Given the description of an element on the screen output the (x, y) to click on. 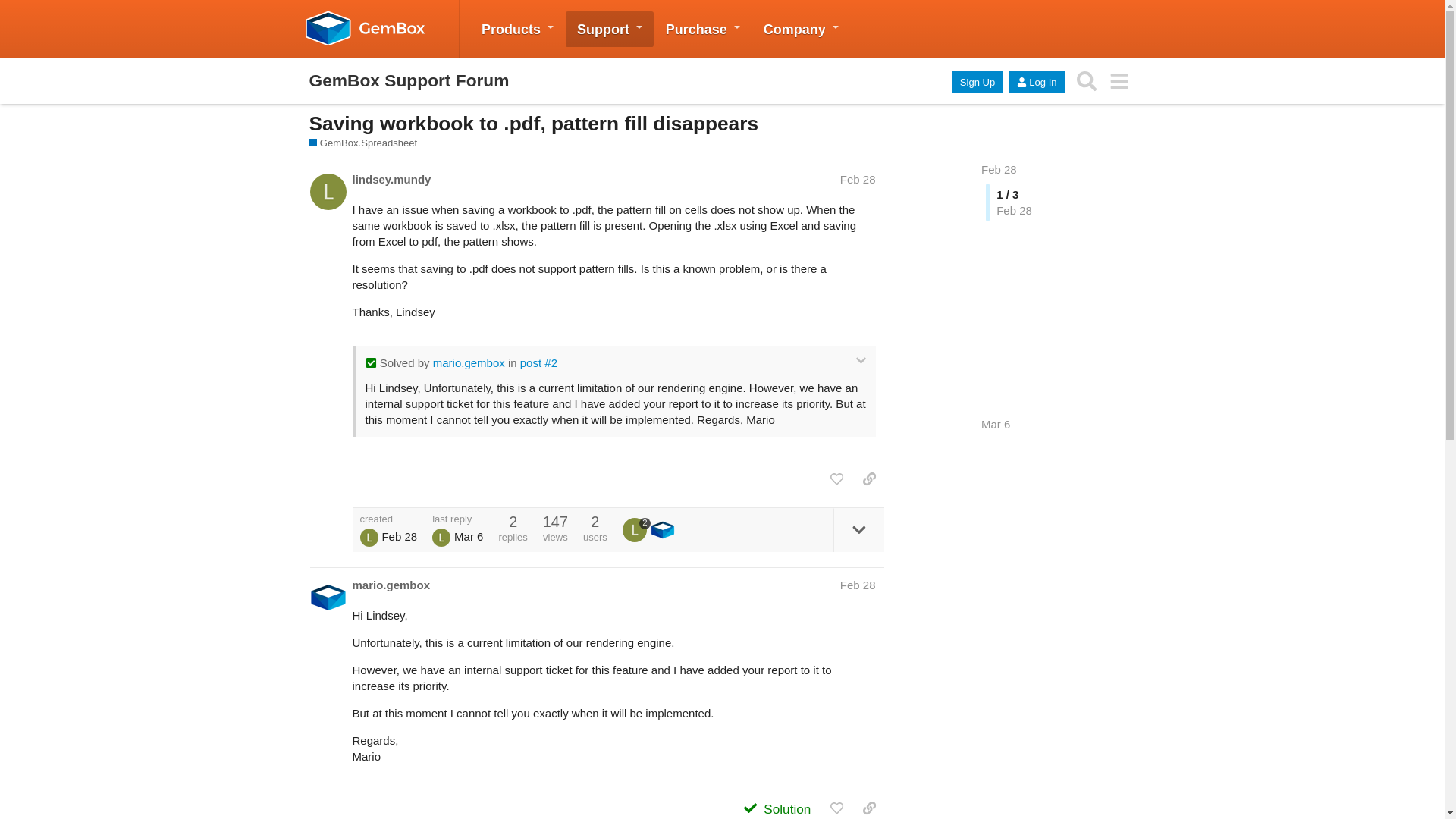
GemBox Support Forum (408, 80)
Feb 28 (998, 169)
Log In (1036, 82)
Feb 28 (998, 169)
Feb 28, 2024 12:33 am (398, 535)
copy a link to this post to clipboard (869, 479)
Mar 6, 2024 9:55 pm (995, 423)
Company (801, 28)
lindsey.mundy (636, 529)
GemBox.Spreadsheet (362, 142)
Search (1086, 81)
Sign Up (977, 82)
GemBox (368, 28)
Purchase (702, 28)
